Given the description of an element on the screen output the (x, y) to click on. 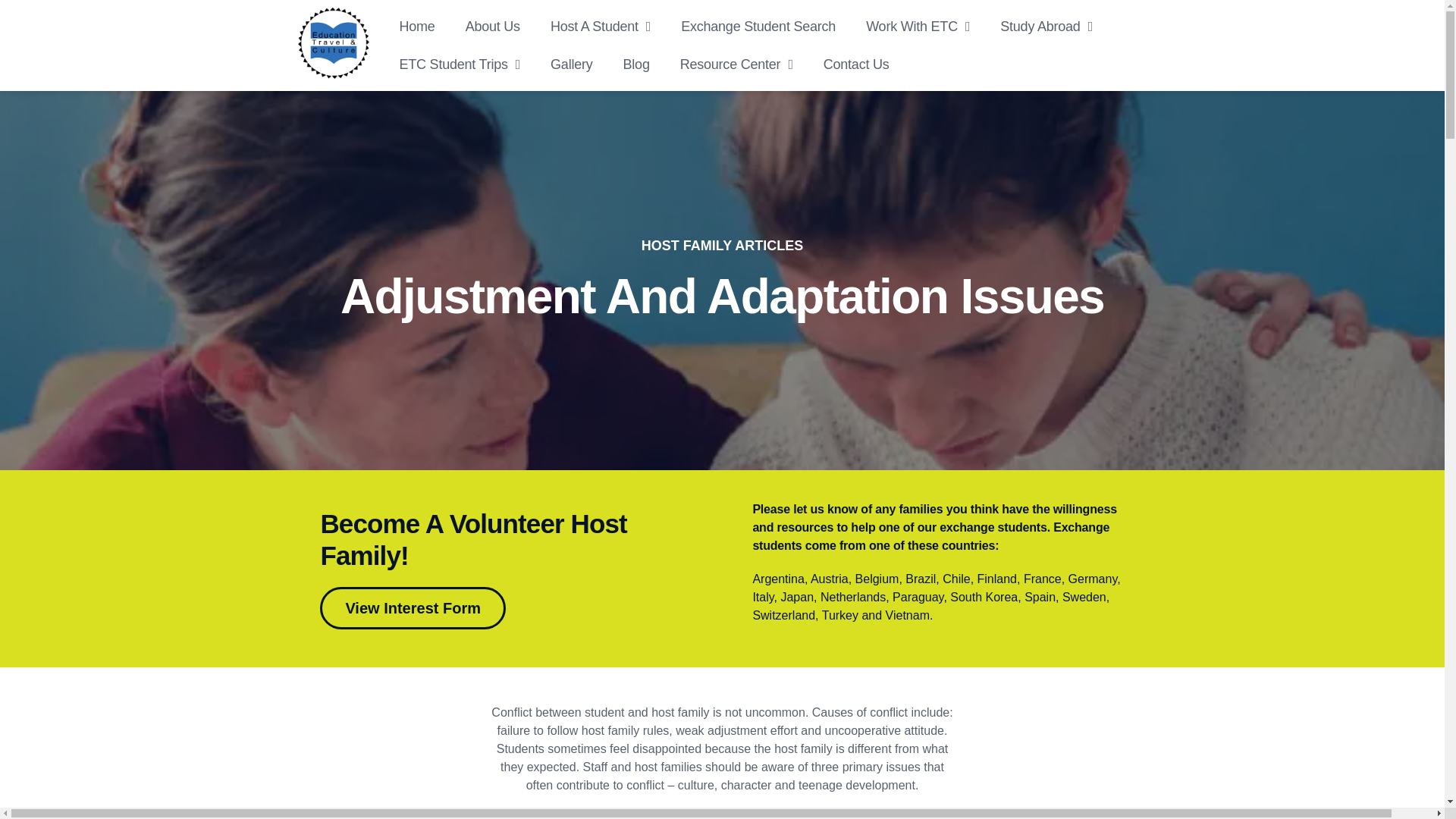
Study Abroad (1046, 26)
Exchange Student Search (757, 26)
ETC Student Trips (459, 64)
Host A Student (600, 26)
Contact Us (856, 64)
Gallery (571, 64)
Work With ETC (917, 26)
Blog (636, 64)
Home (416, 26)
Resource Center (736, 64)
About Us (492, 26)
